Given the description of an element on the screen output the (x, y) to click on. 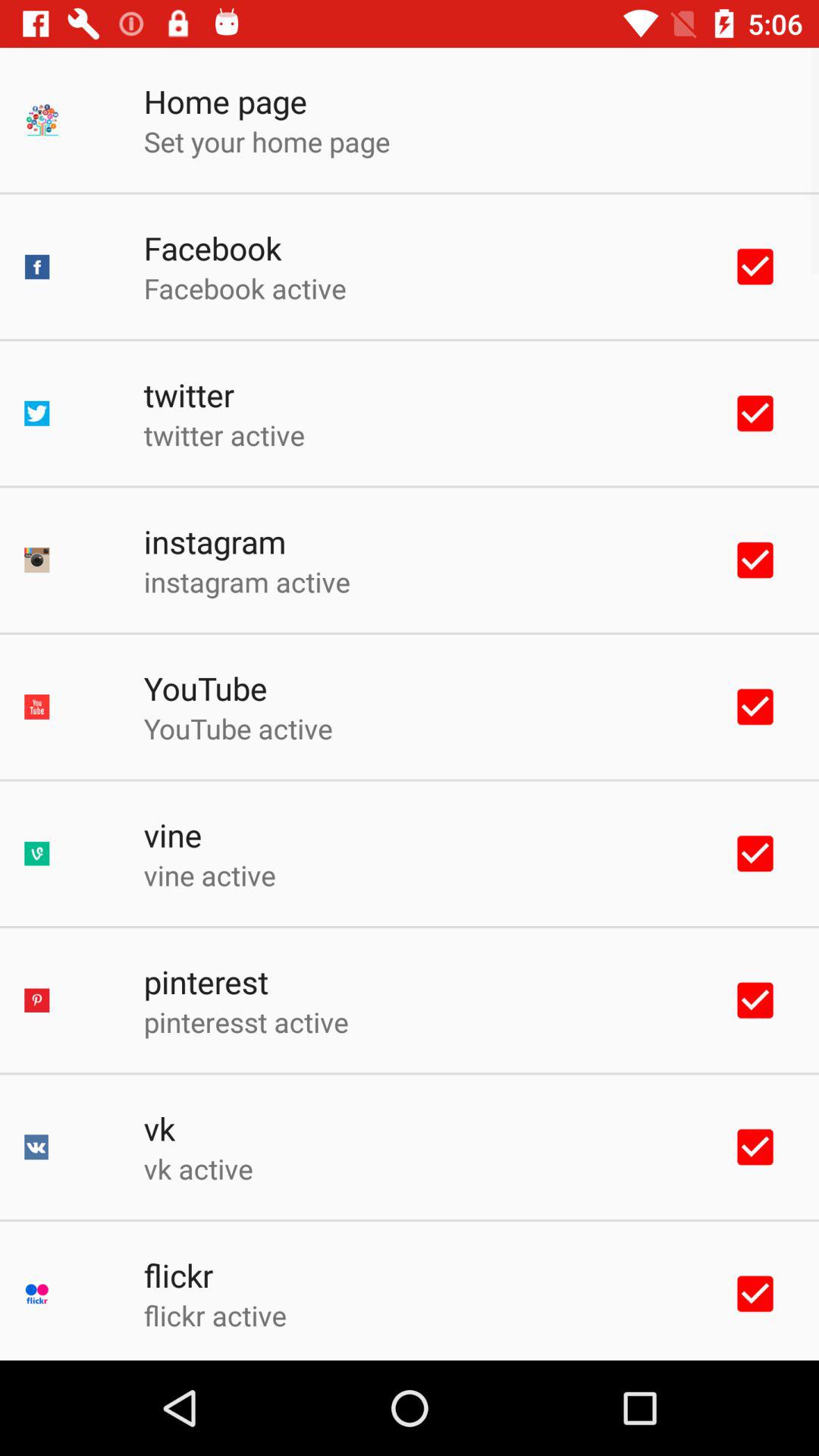
click the item above vk app (245, 1021)
